Given the description of an element on the screen output the (x, y) to click on. 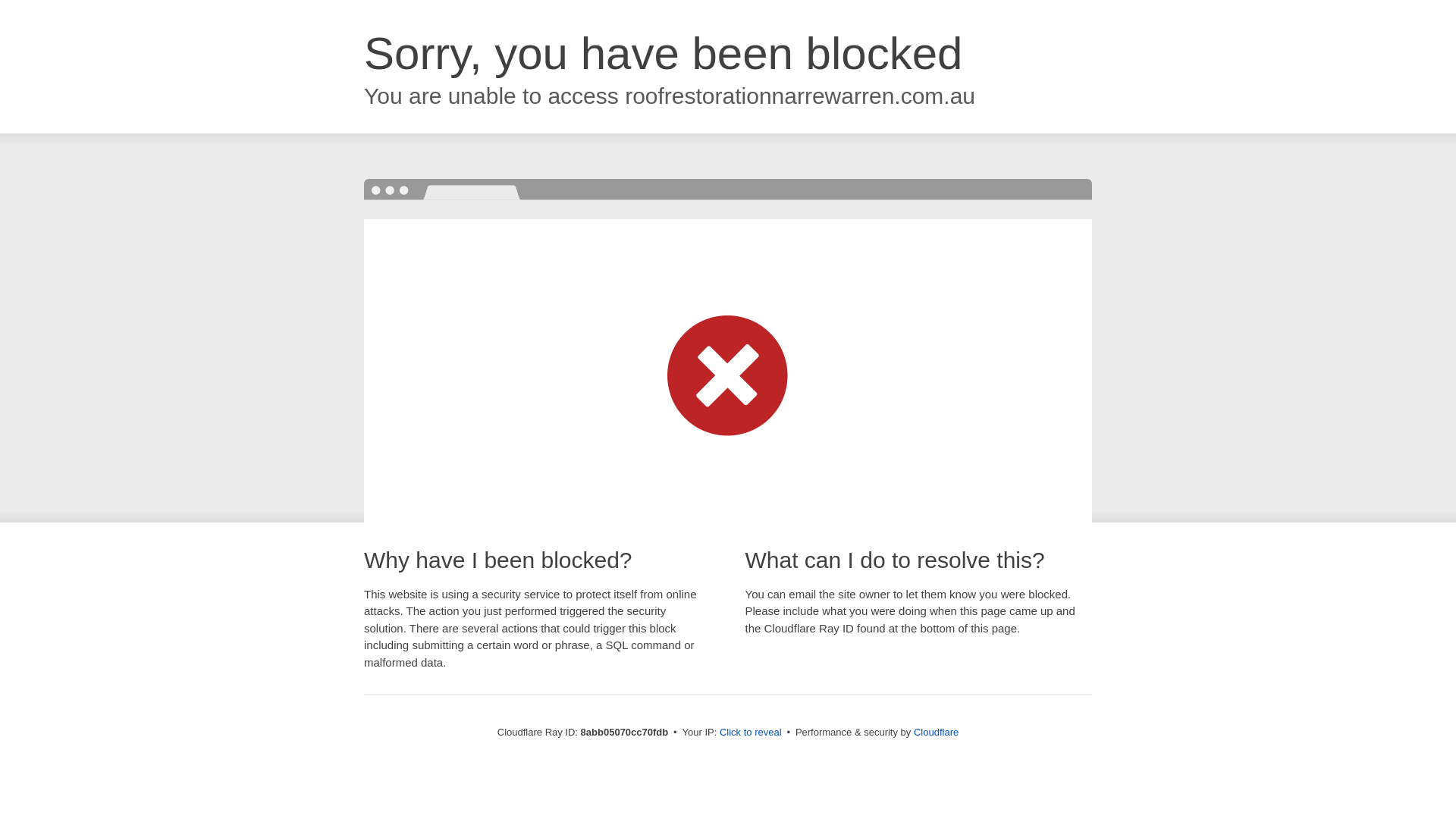
Click to reveal (750, 732)
Cloudflare (936, 731)
